Given the description of an element on the screen output the (x, y) to click on. 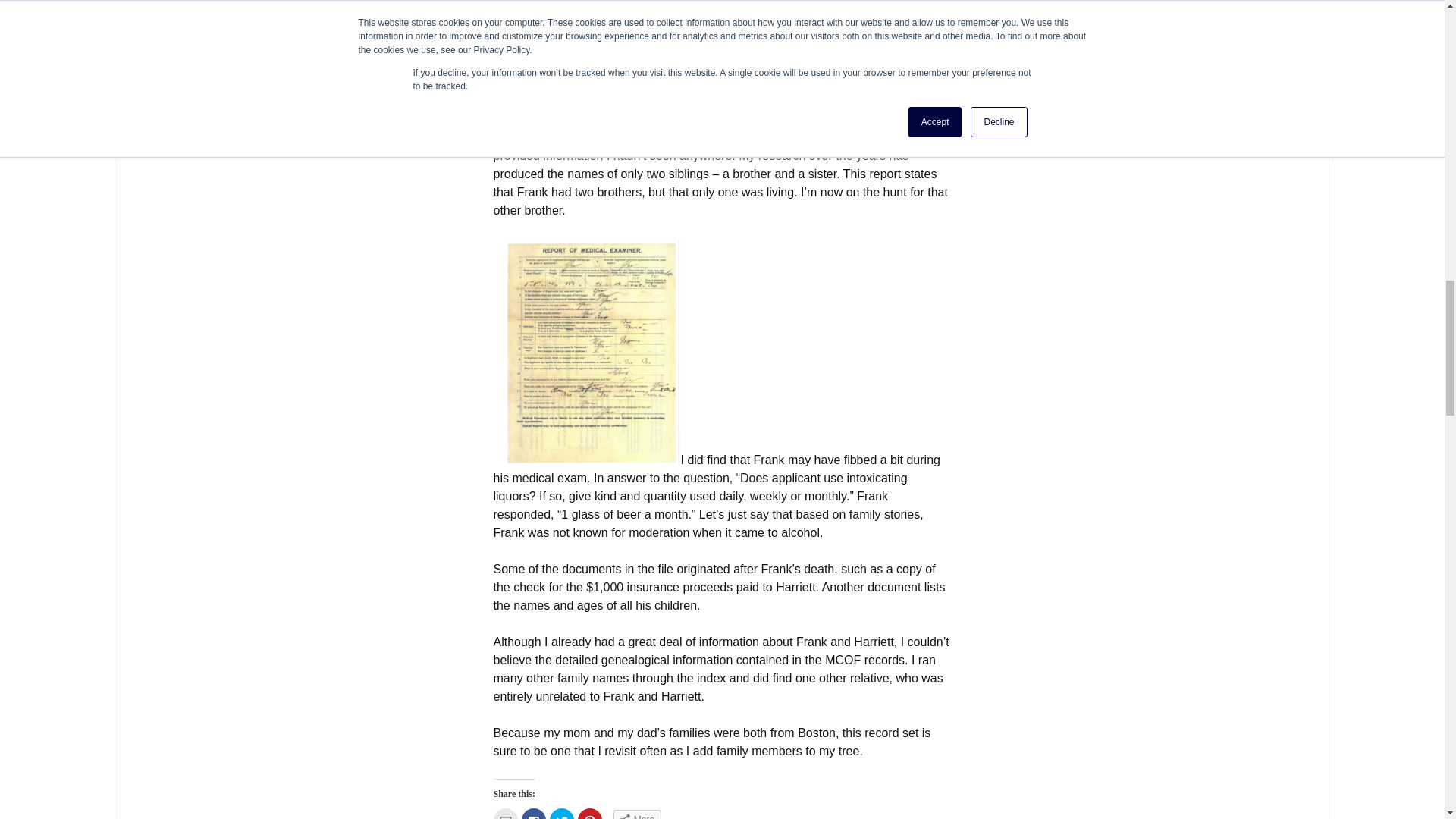
Click to share on Twitter (560, 813)
Click to share on Pinterest (590, 813)
Click to email this to a friend (504, 813)
Click to share on Facebook (533, 813)
